Given the description of an element on the screen output the (x, y) to click on. 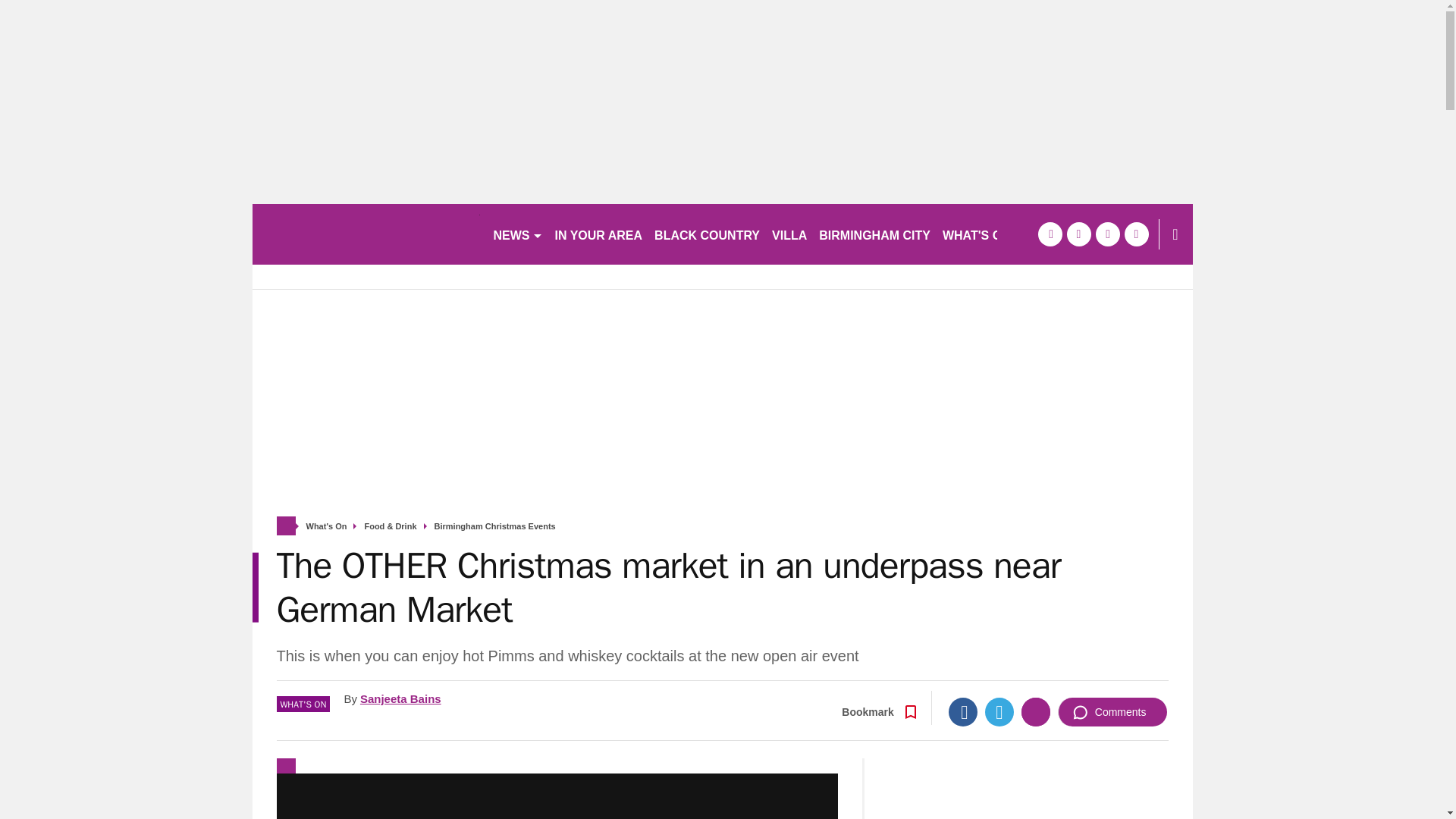
Twitter (999, 711)
instagram (1136, 233)
BIRMINGHAM CITY (874, 233)
tiktok (1106, 233)
twitter (1077, 233)
BLACK COUNTRY (706, 233)
Comments (1112, 711)
WHAT'S ON (982, 233)
IN YOUR AREA (598, 233)
NEWS (517, 233)
